Given the description of an element on the screen output the (x, y) to click on. 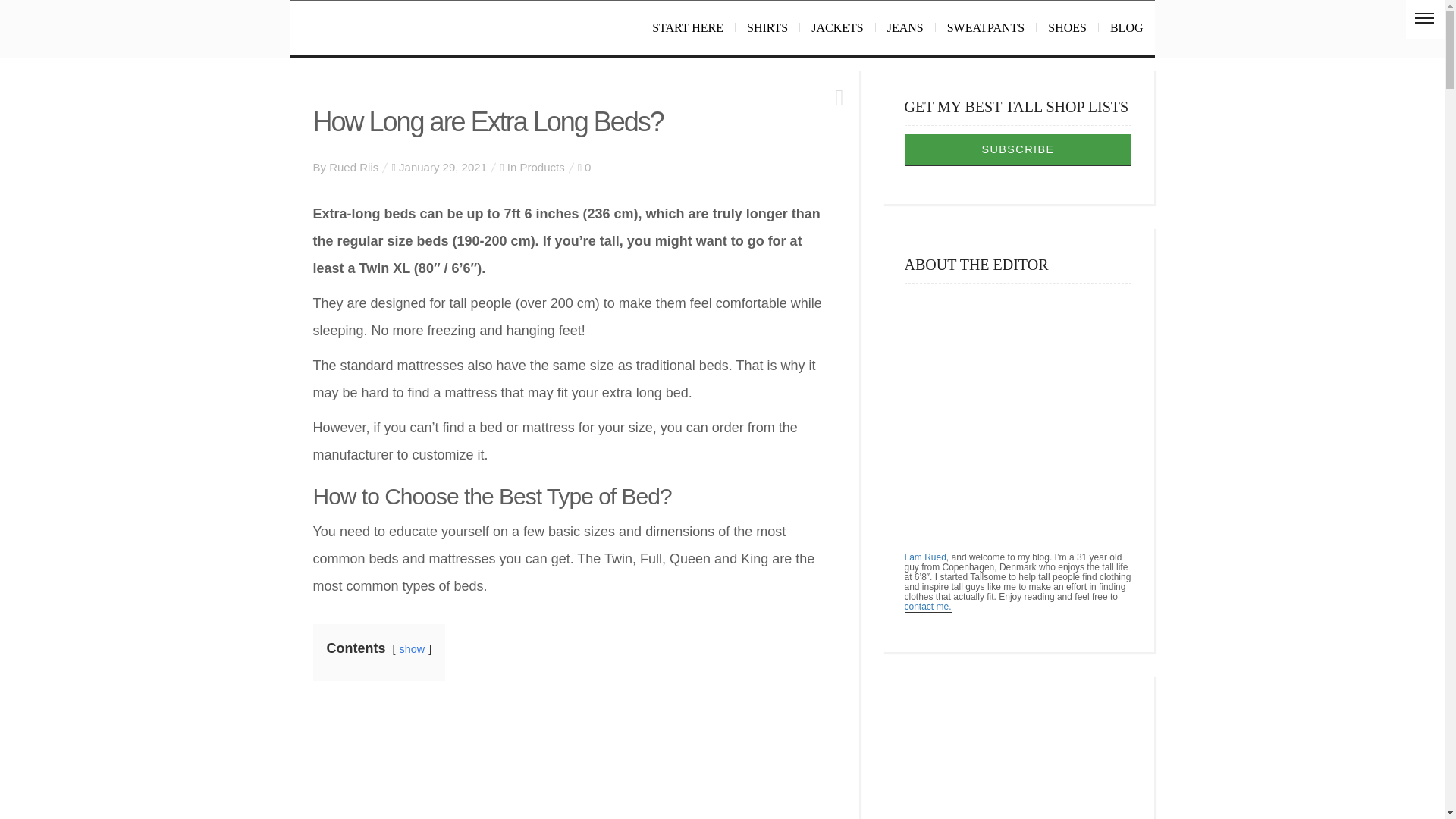
Posts by Rued Riis (353, 166)
Rued Riis (353, 166)
JEANS (906, 27)
SHIRTS (767, 27)
Tall Men's Clothing (432, 28)
START HERE (687, 27)
Subscribe (1017, 149)
SHOES (1067, 27)
I am Rued (924, 557)
SWEATPANTS (986, 27)
